Given the description of an element on the screen output the (x, y) to click on. 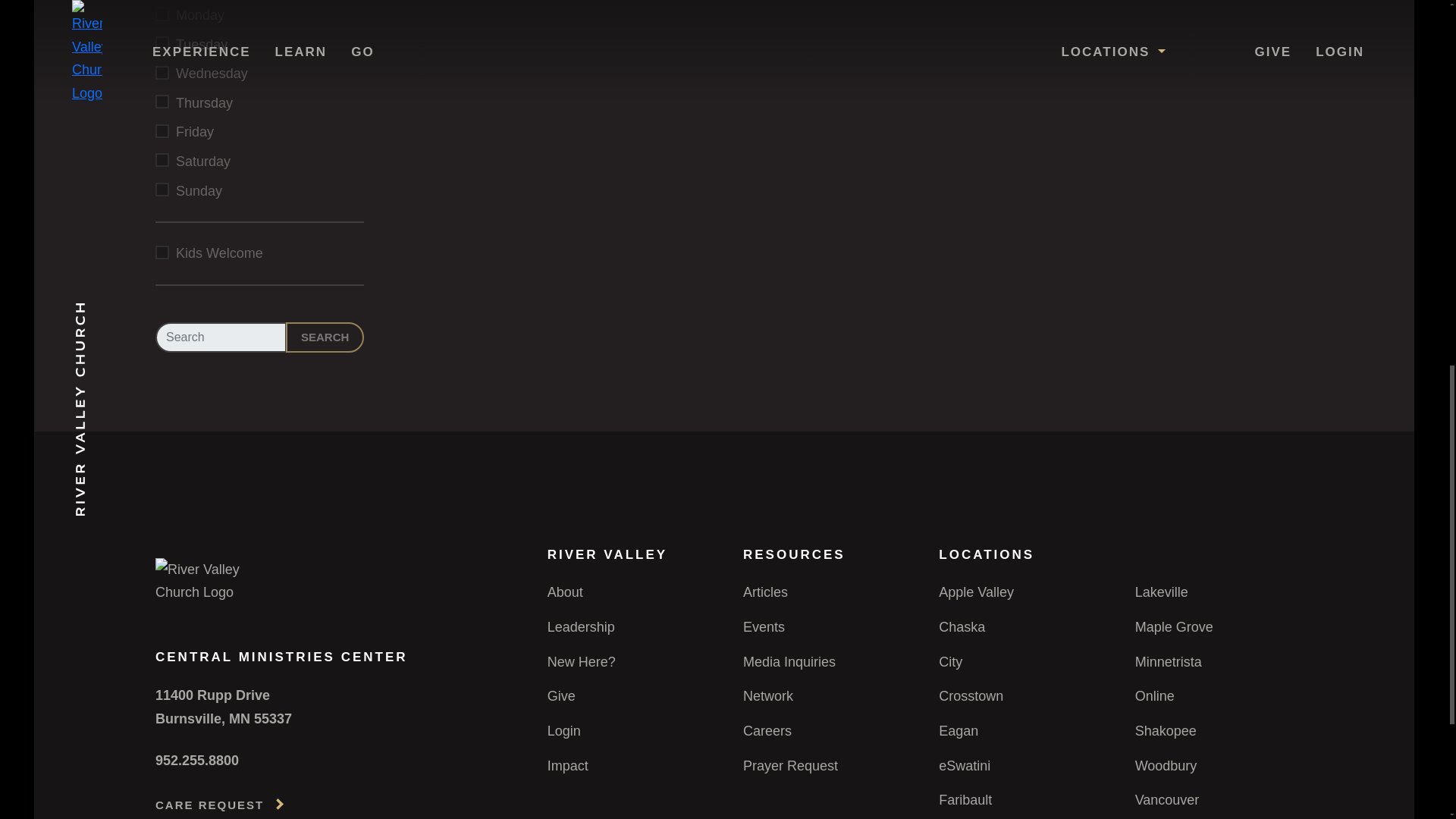
Search (324, 337)
